Given the description of an element on the screen output the (x, y) to click on. 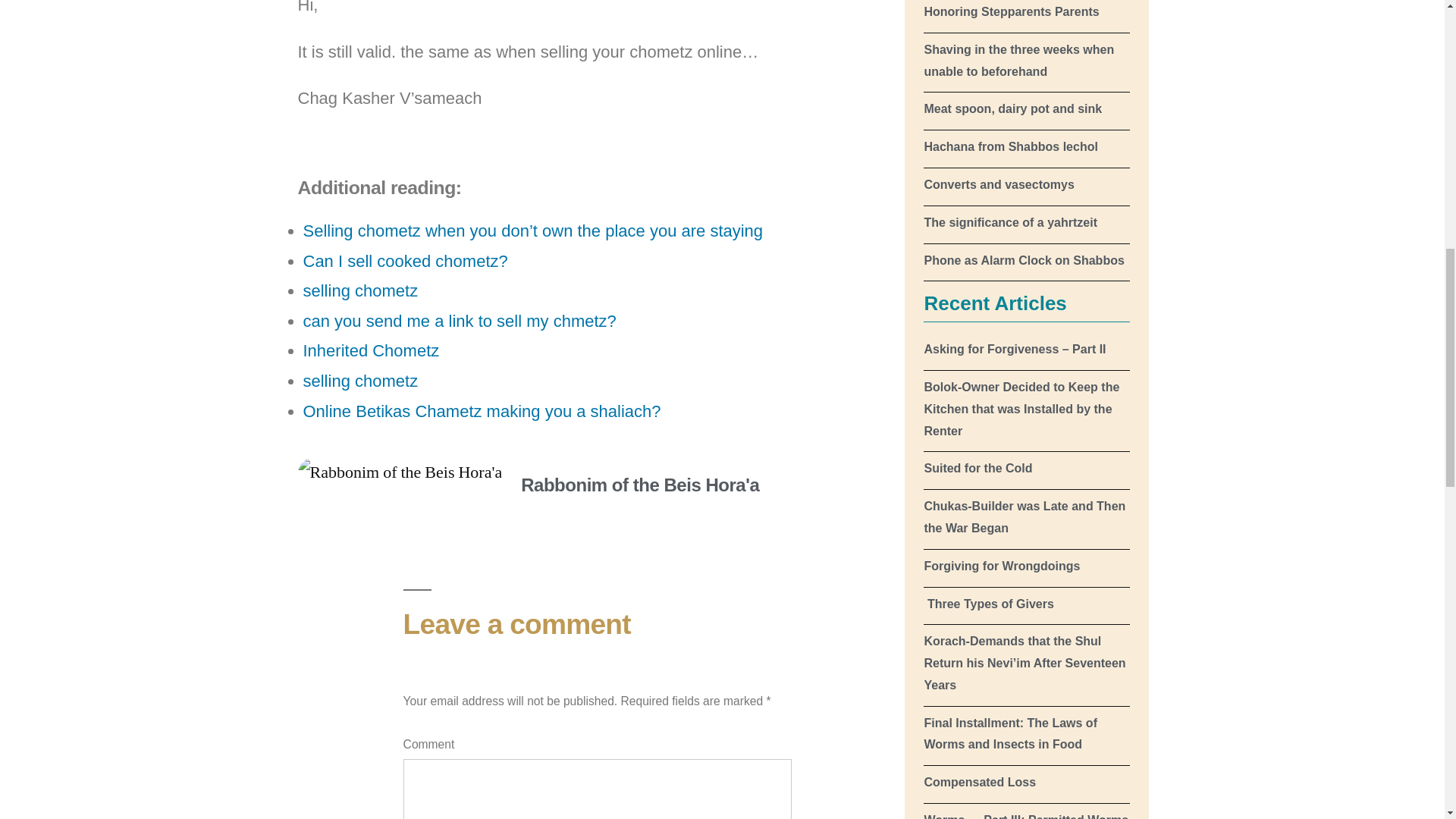
can you send me a link to sell my chmetz? (458, 321)
Can I sell cooked chometz? (405, 261)
can you send me a link to sell my chmetz? (458, 321)
Online Betikas Chametz making you a shaliach? (481, 411)
selling chometz (360, 290)
Online Betikas Chametz making you a shaliach? (481, 411)
selling chometz (360, 380)
selling chometz (360, 290)
selling chometz (360, 380)
Inherited Chometz (370, 350)
Inherited Chometz (370, 350)
Can I sell cooked chometz? (405, 261)
